Given the description of an element on the screen output the (x, y) to click on. 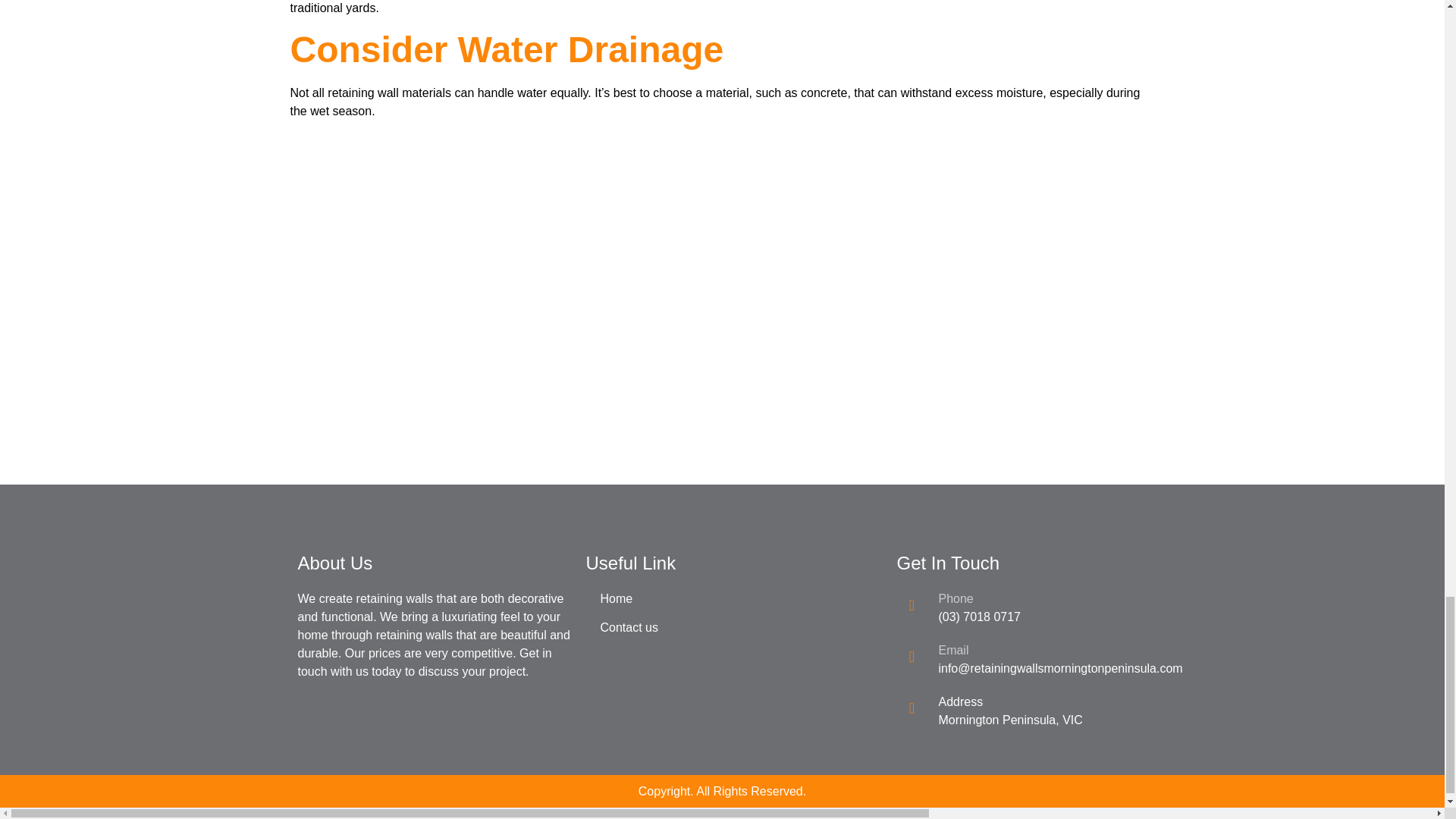
Home (722, 598)
Contact us (722, 628)
Email (952, 649)
Phone (954, 598)
